Given the description of an element on the screen output the (x, y) to click on. 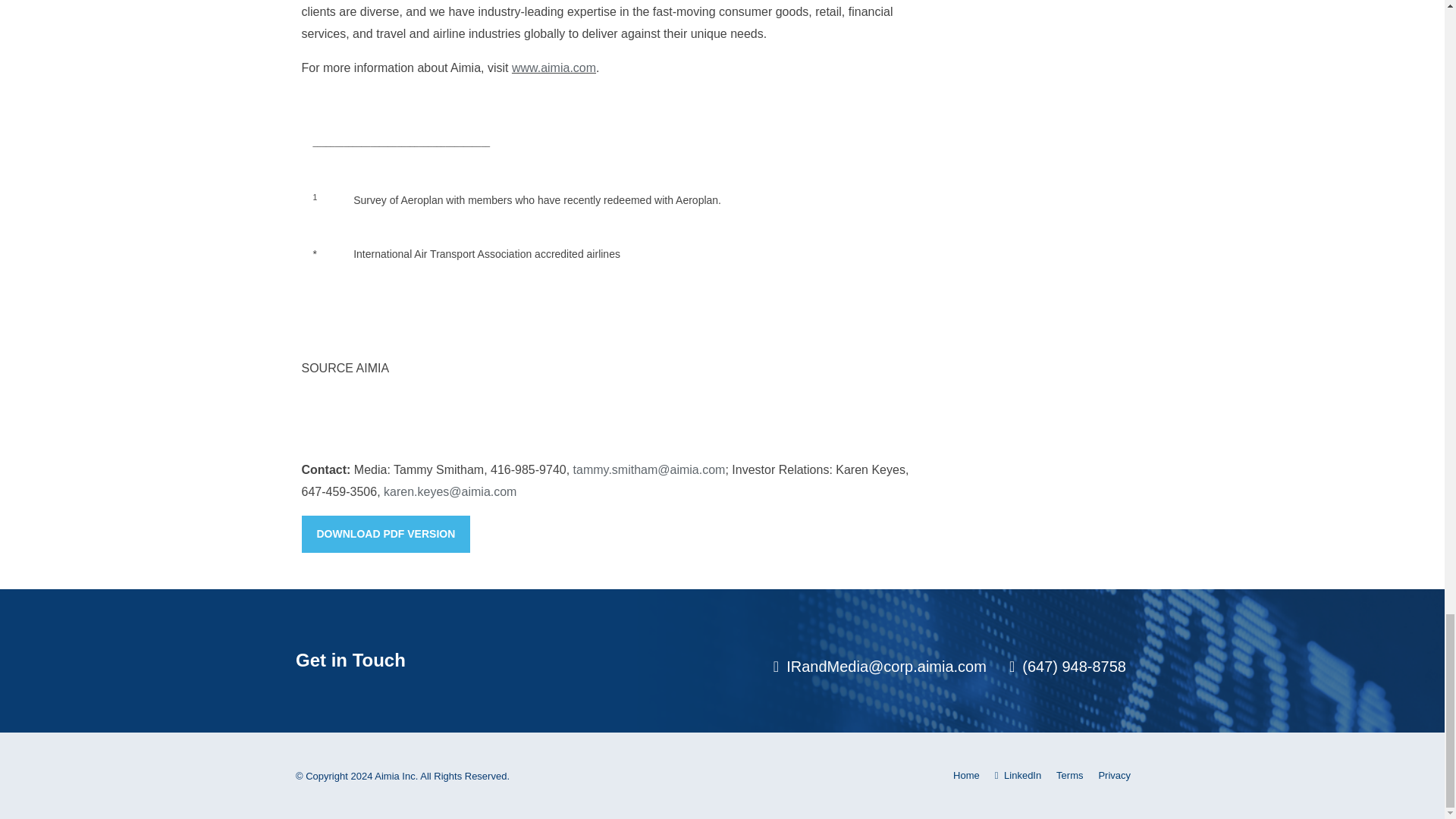
www.aimia.com (553, 67)
DOWNLOAD PDF VERSION (385, 533)
